Given the description of an element on the screen output the (x, y) to click on. 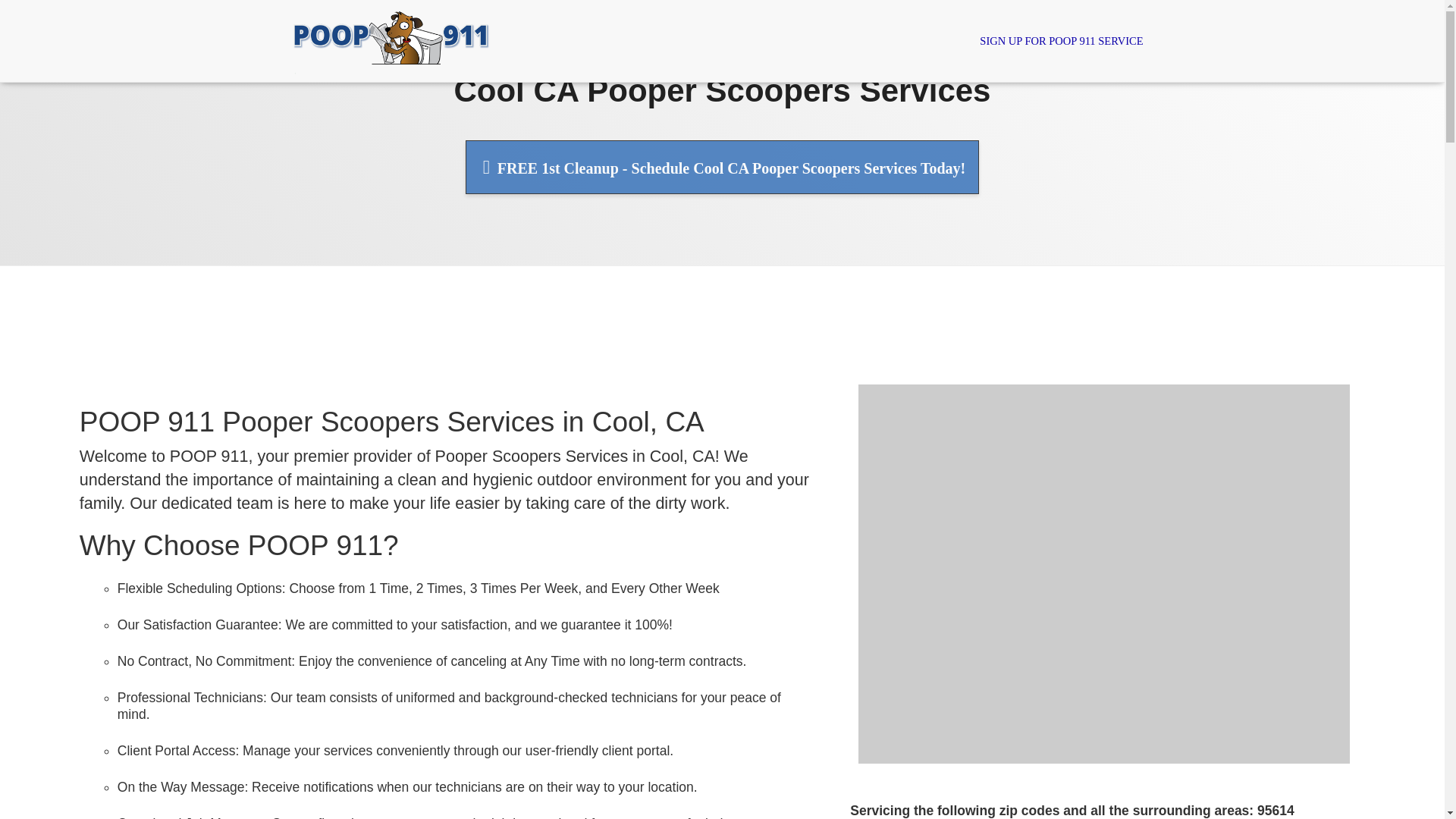
Sign up for Poop 911 Service (1061, 40)
SIGN UP FOR POOP 911 SERVICE (1061, 40)
POOP 911 (391, 40)
